Given the description of an element on the screen output the (x, y) to click on. 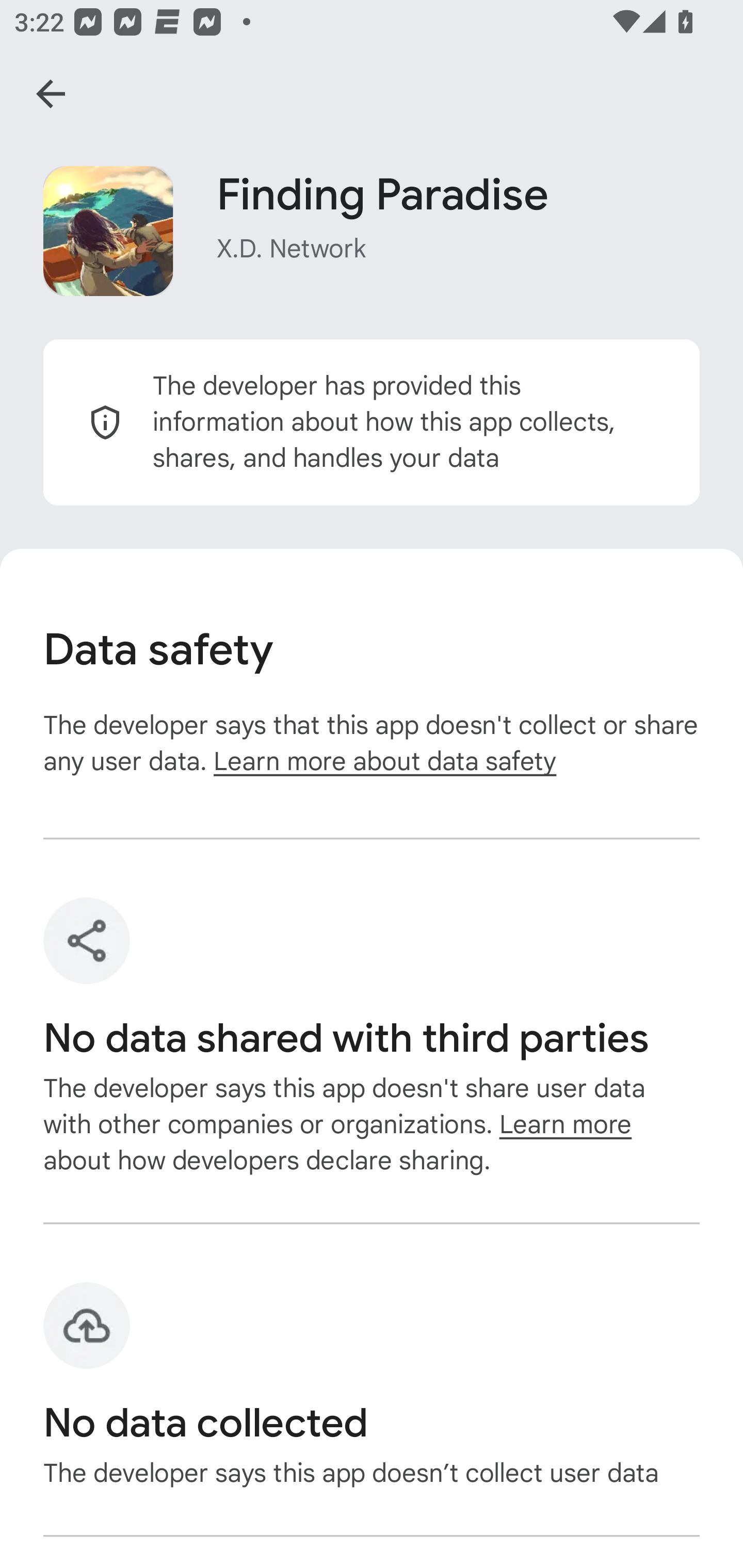
Navigate up (50, 93)
